Given the description of an element on the screen output the (x, y) to click on. 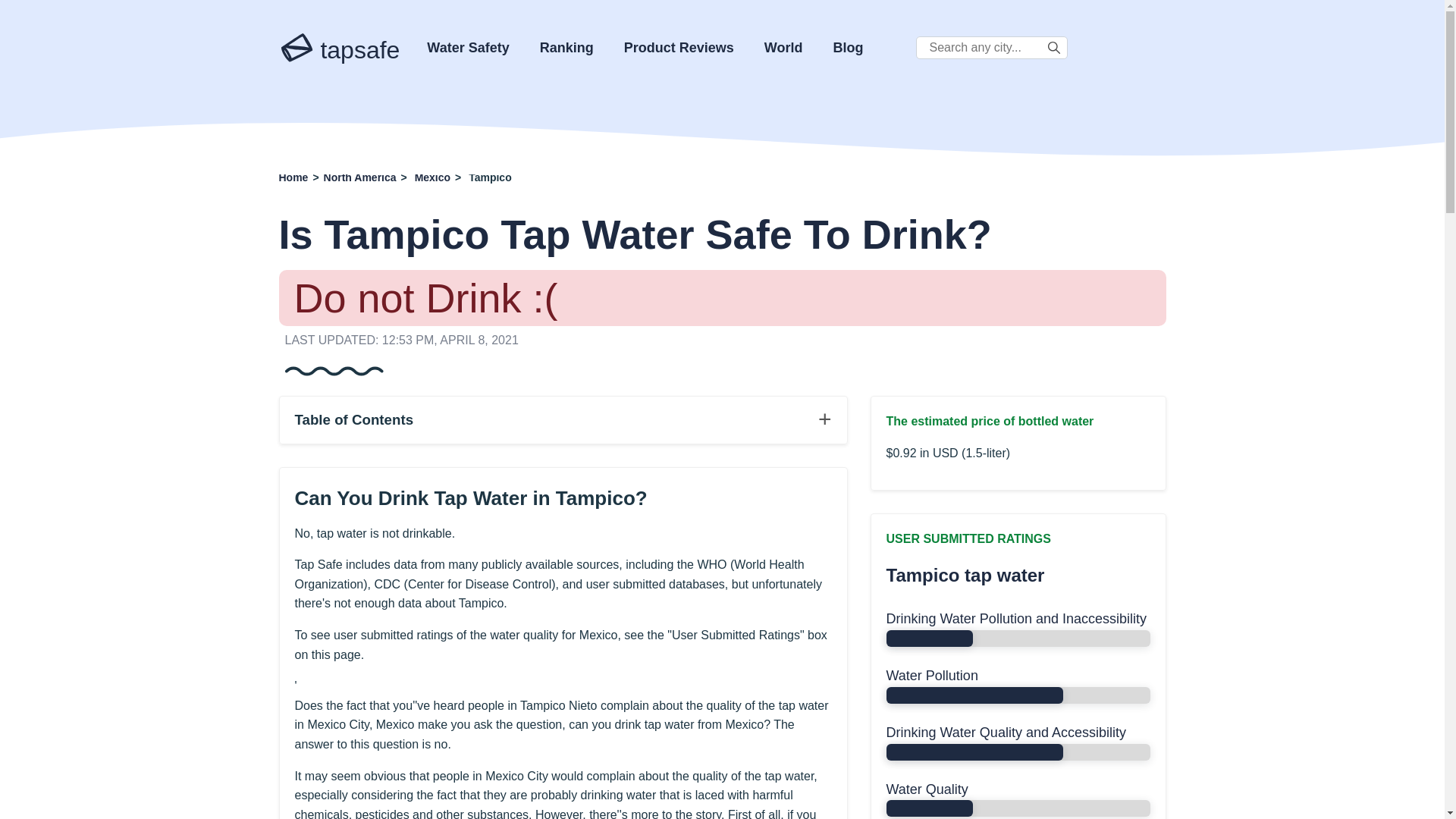
Ranking (567, 47)
tapsafe (339, 44)
Water Safety (467, 47)
Home (293, 177)
Product Reviews (678, 47)
Mexico (431, 177)
Search City: (991, 47)
North America (359, 177)
